Given the description of an element on the screen output the (x, y) to click on. 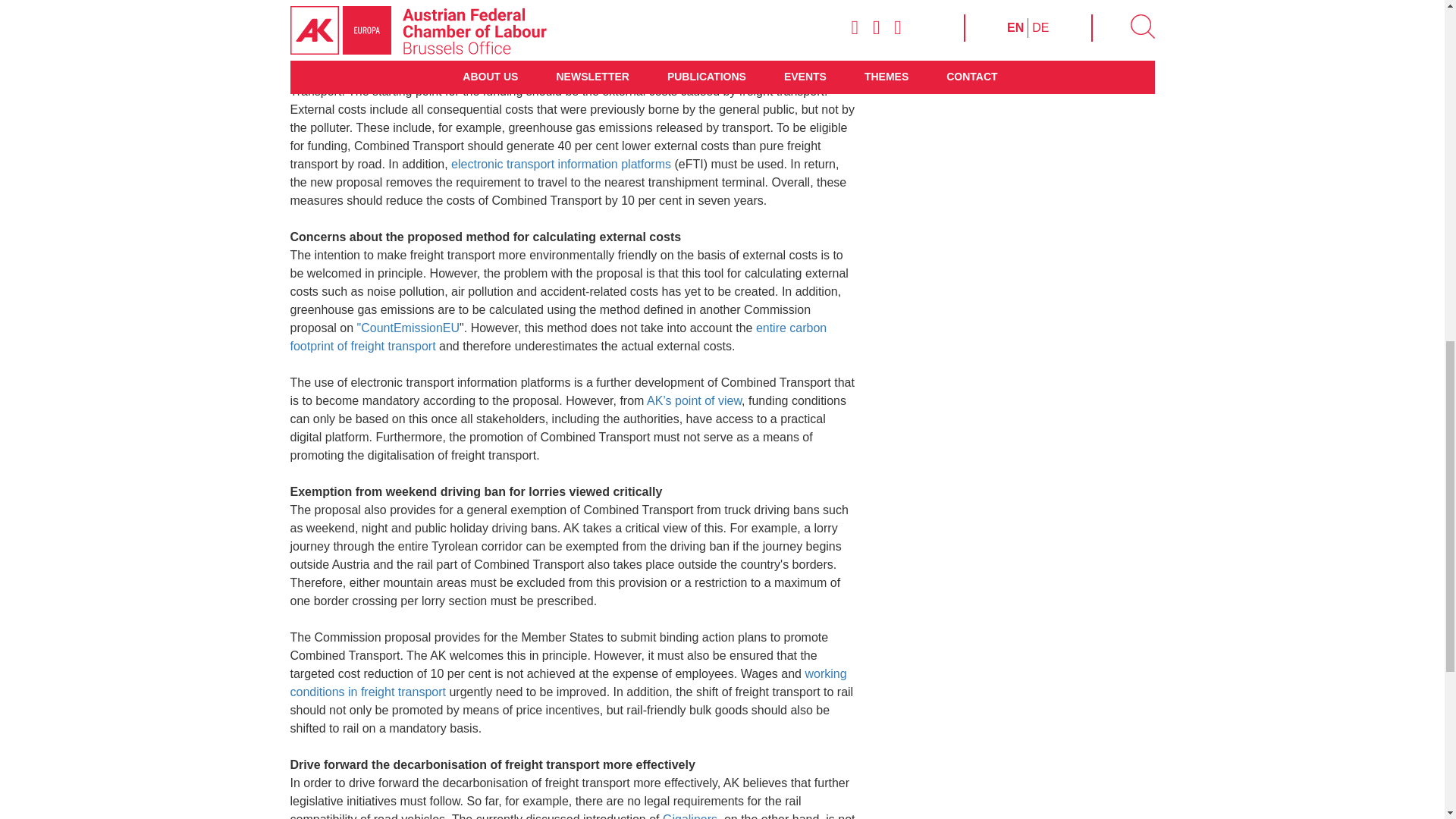
working conditions in freight transport (567, 682)
CountEmissionEU (410, 327)
Greening Freight Package (688, 18)
entire carbon footprint of freight transport (558, 336)
existing Directive (451, 18)
Gigaliners (689, 816)
electronic transport information platforms (561, 164)
